Given the description of an element on the screen output the (x, y) to click on. 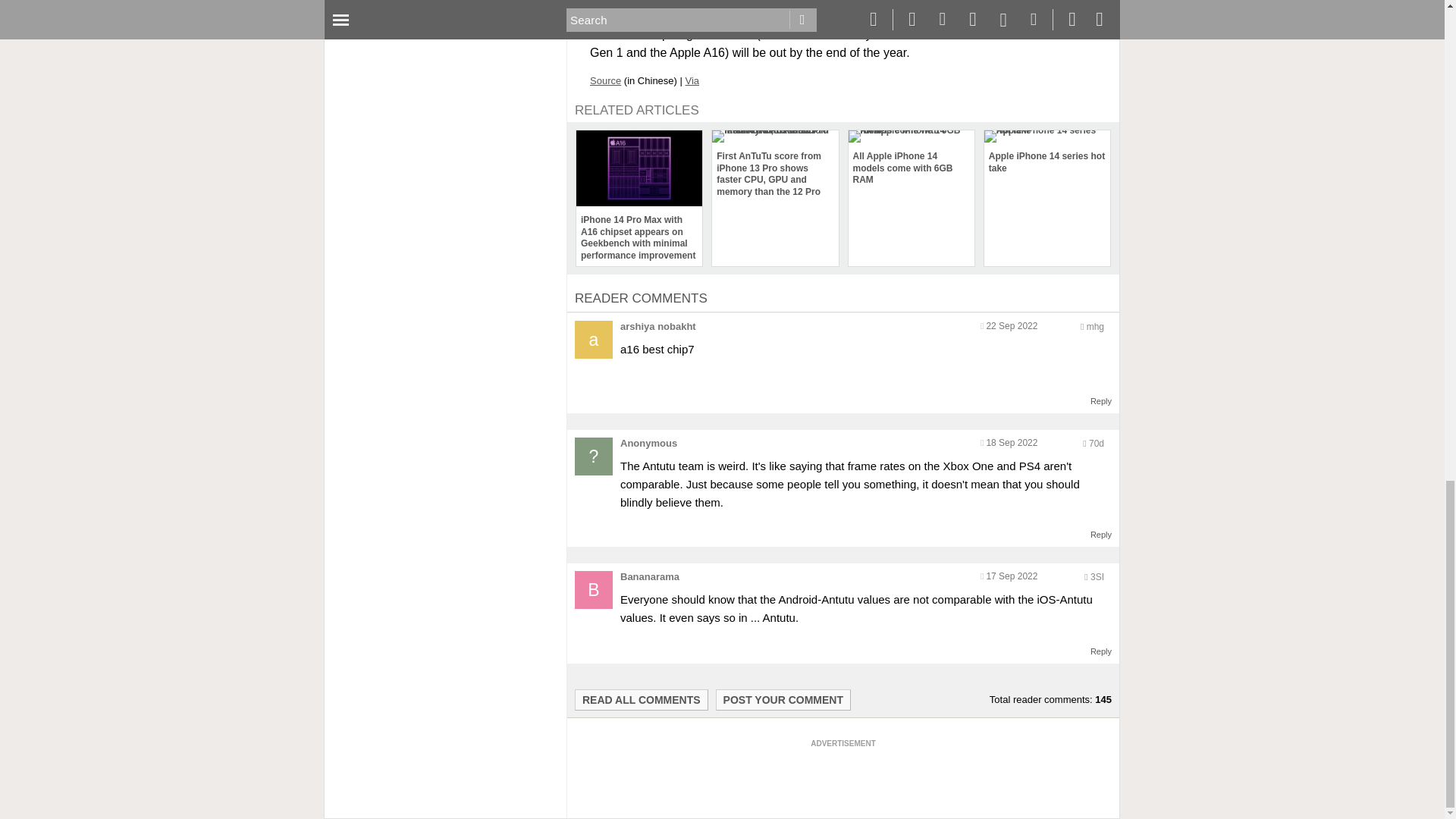
Reply to this post (1101, 533)
Encoded anonymized location (1094, 326)
Reply to this post (1101, 400)
Encoded anonymized location (1096, 576)
Reply to this post (1101, 651)
Encoded anonymized location (1096, 443)
